Given the description of an element on the screen output the (x, y) to click on. 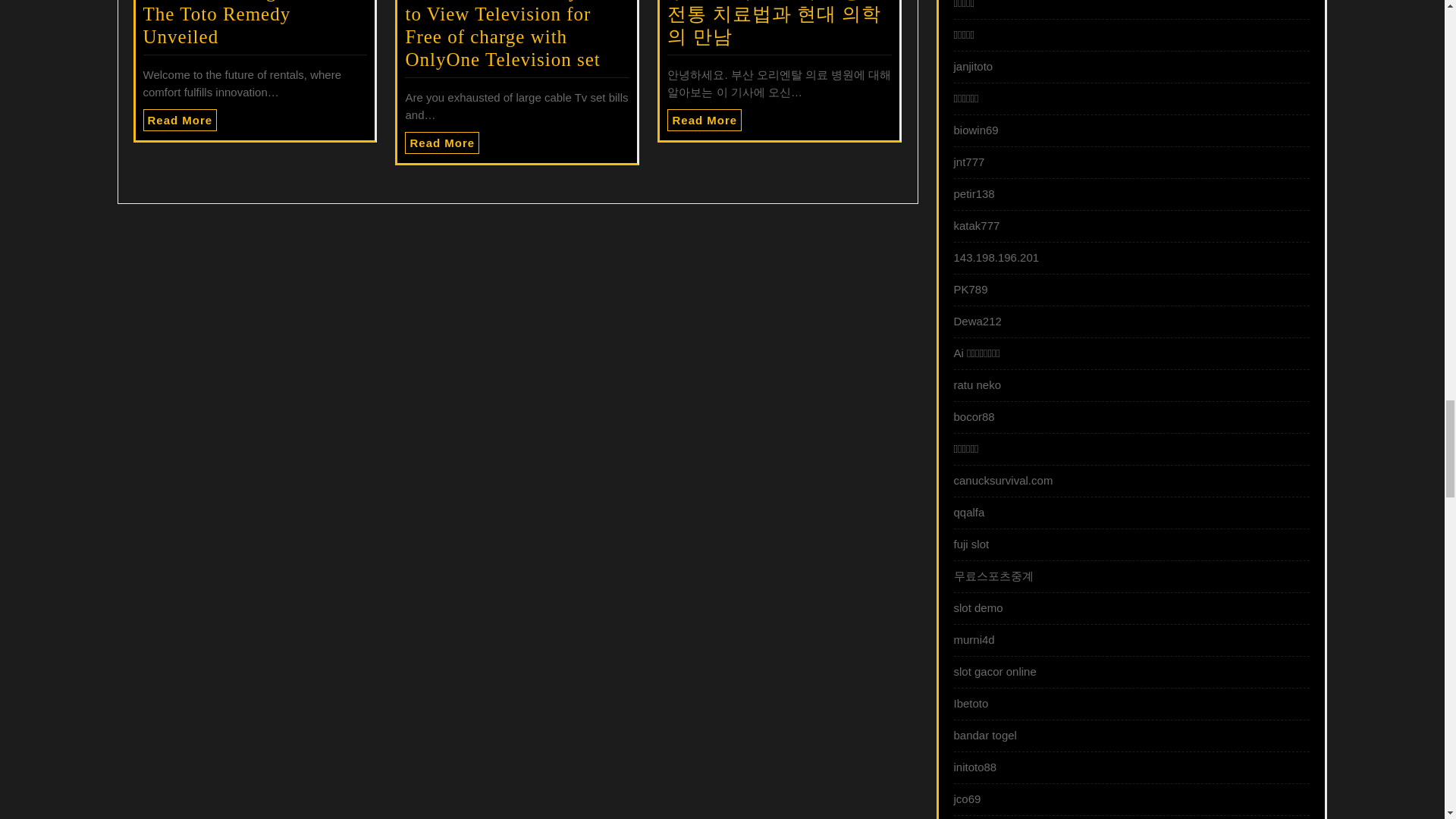
Read More (441, 142)
Revolutionizing Rentals The Toto Remedy Unveiled (242, 23)
Read More (703, 119)
Read More (441, 142)
Read More (179, 119)
Revolutionizing Rentals The Toto Remedy Unveiled (242, 23)
Read More (703, 119)
Read More (179, 119)
